Given the description of an element on the screen output the (x, y) to click on. 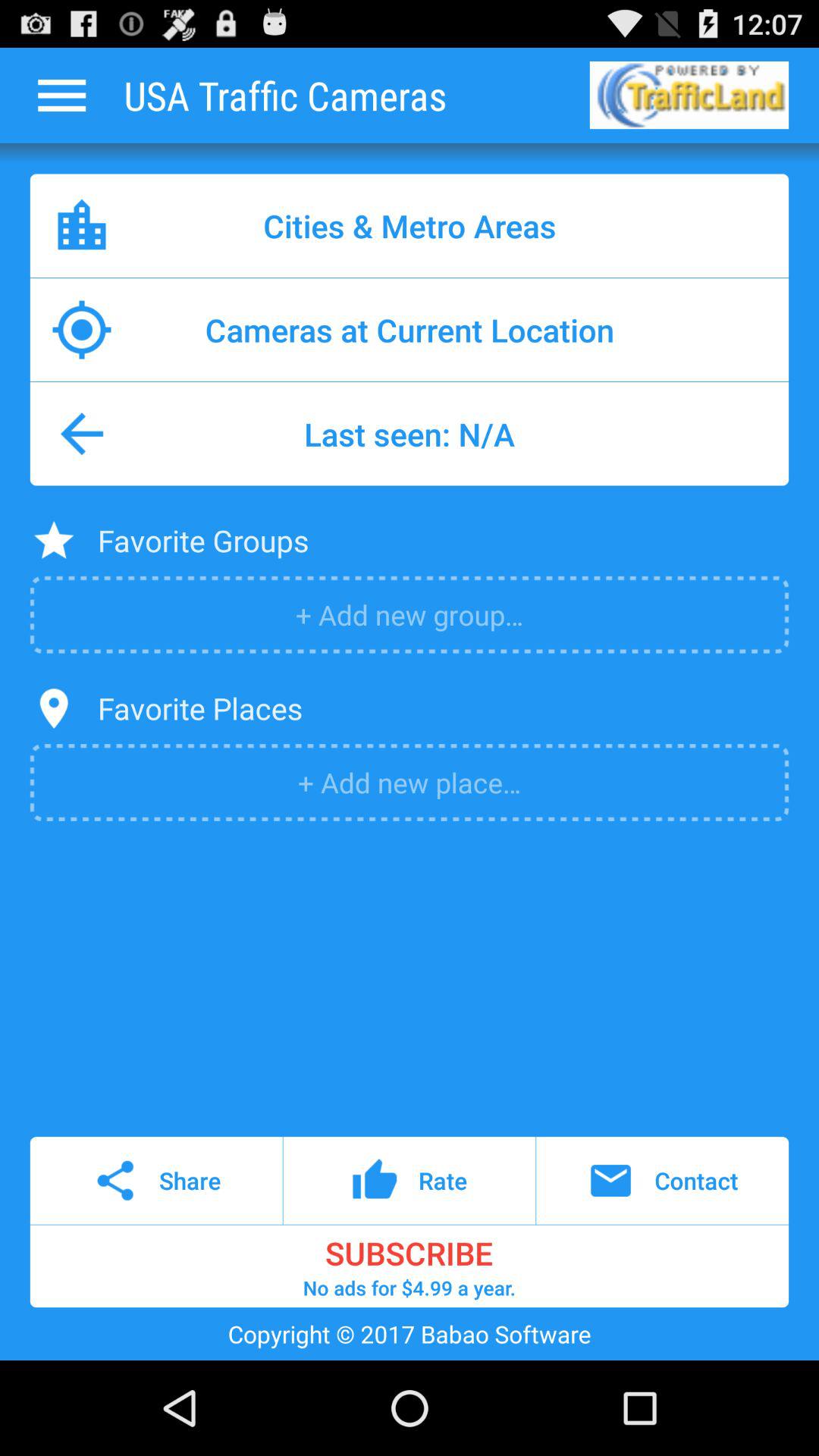
turn off the icon below the cameras at current app (409, 433)
